Given the description of an element on the screen output the (x, y) to click on. 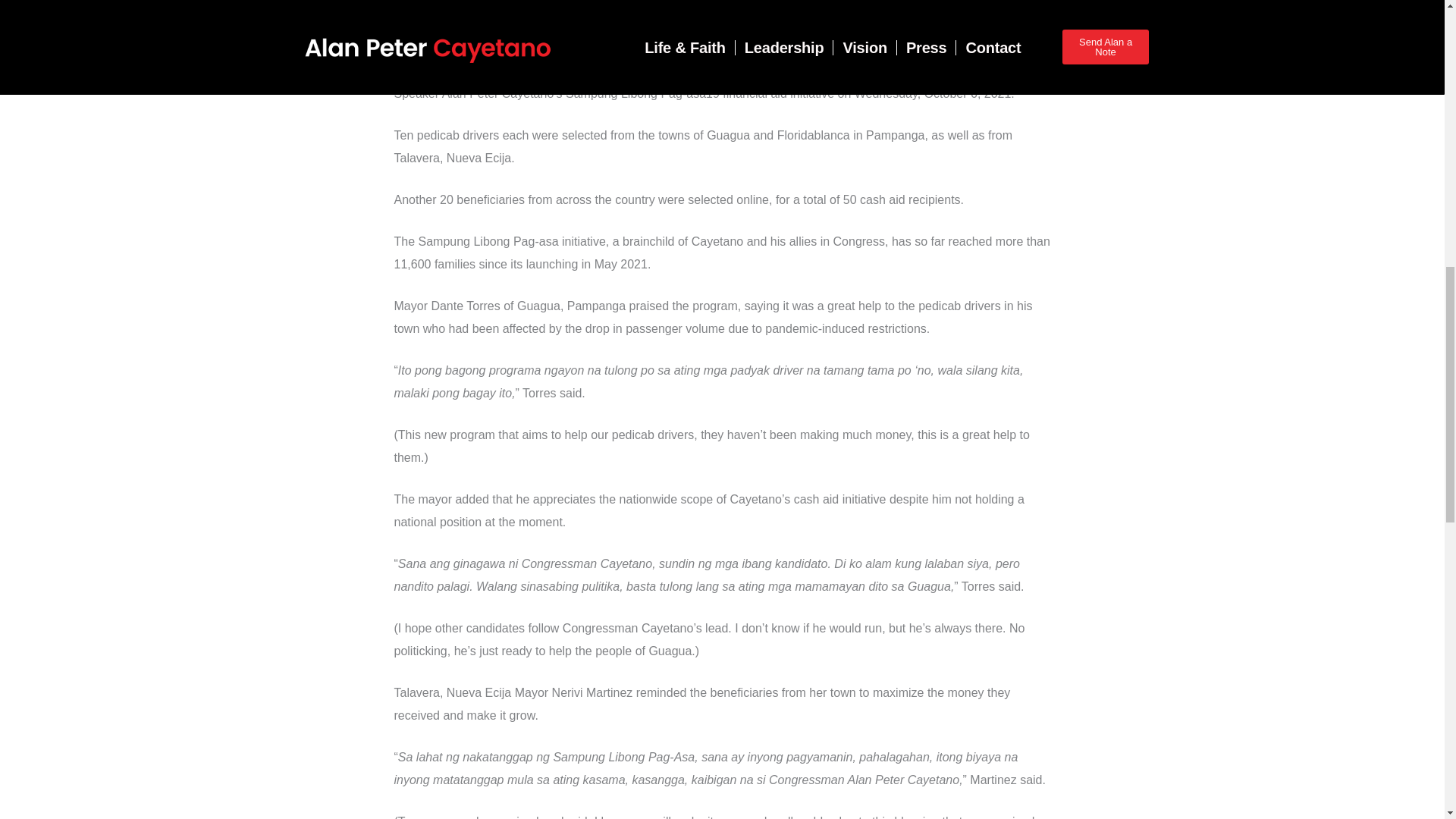
No Comments (1002, 20)
October 7, 2021 (927, 5)
